Given the description of an element on the screen output the (x, y) to click on. 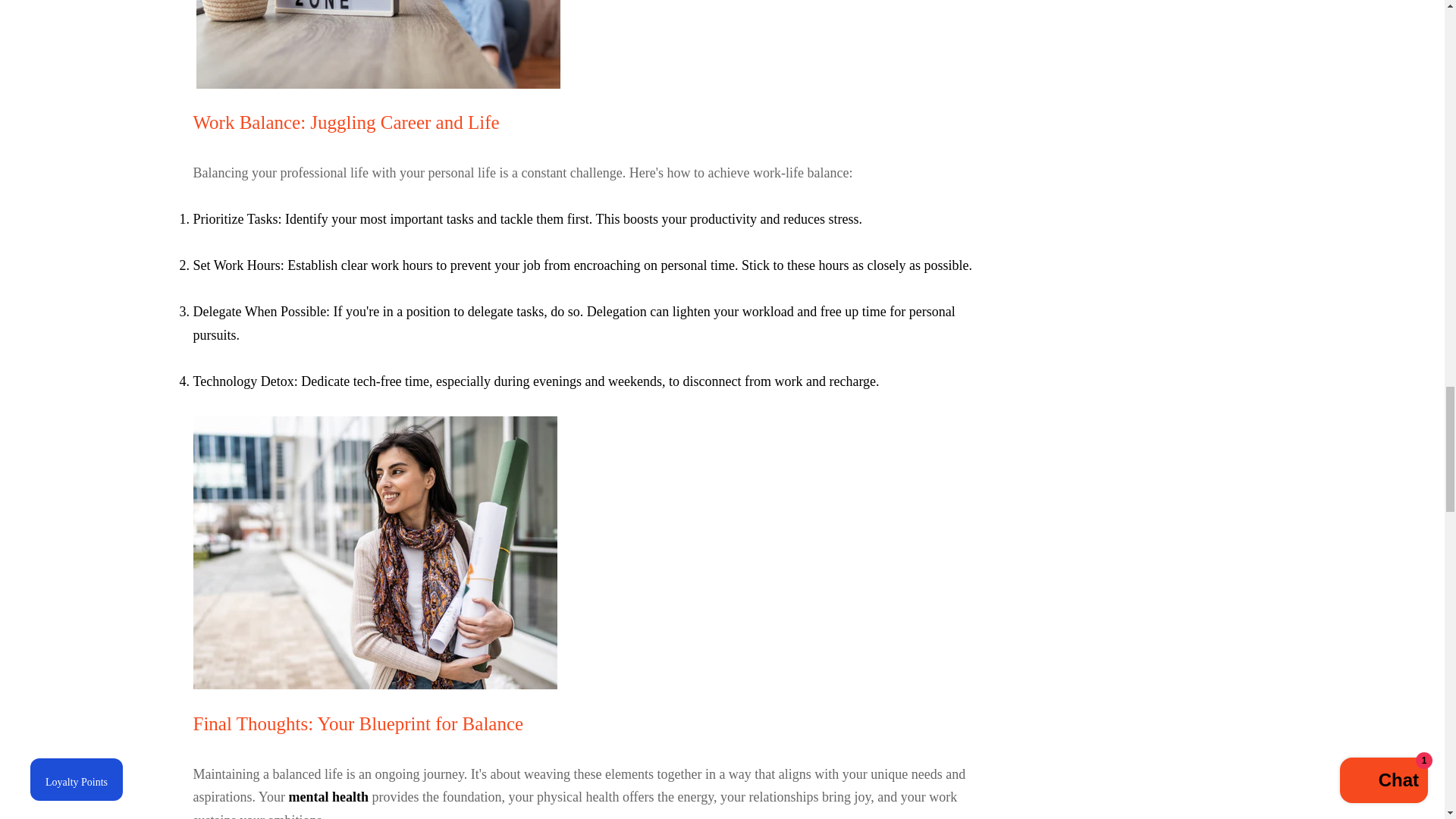
mental health (328, 796)
